Given the description of an element on the screen output the (x, y) to click on. 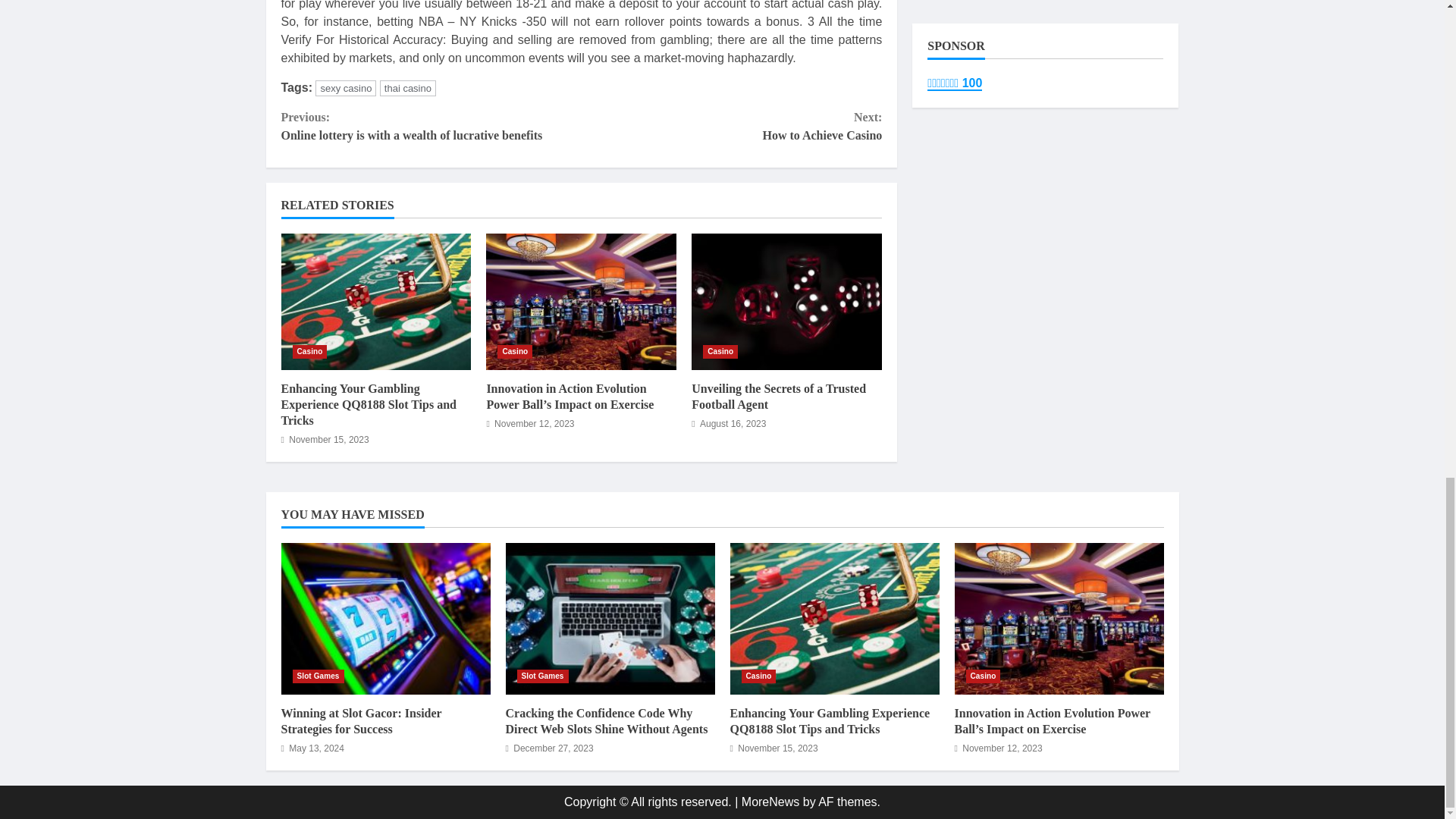
Unveiling the Secrets of a Trusted Football Agent (786, 301)
Winning at Slot Gacor: Insider Strategies for Success (361, 720)
Casino (514, 351)
thai casino (407, 88)
Slot Games (317, 676)
sexy casino (345, 88)
Slot Games (542, 676)
Casino (720, 351)
